Given the description of an element on the screen output the (x, y) to click on. 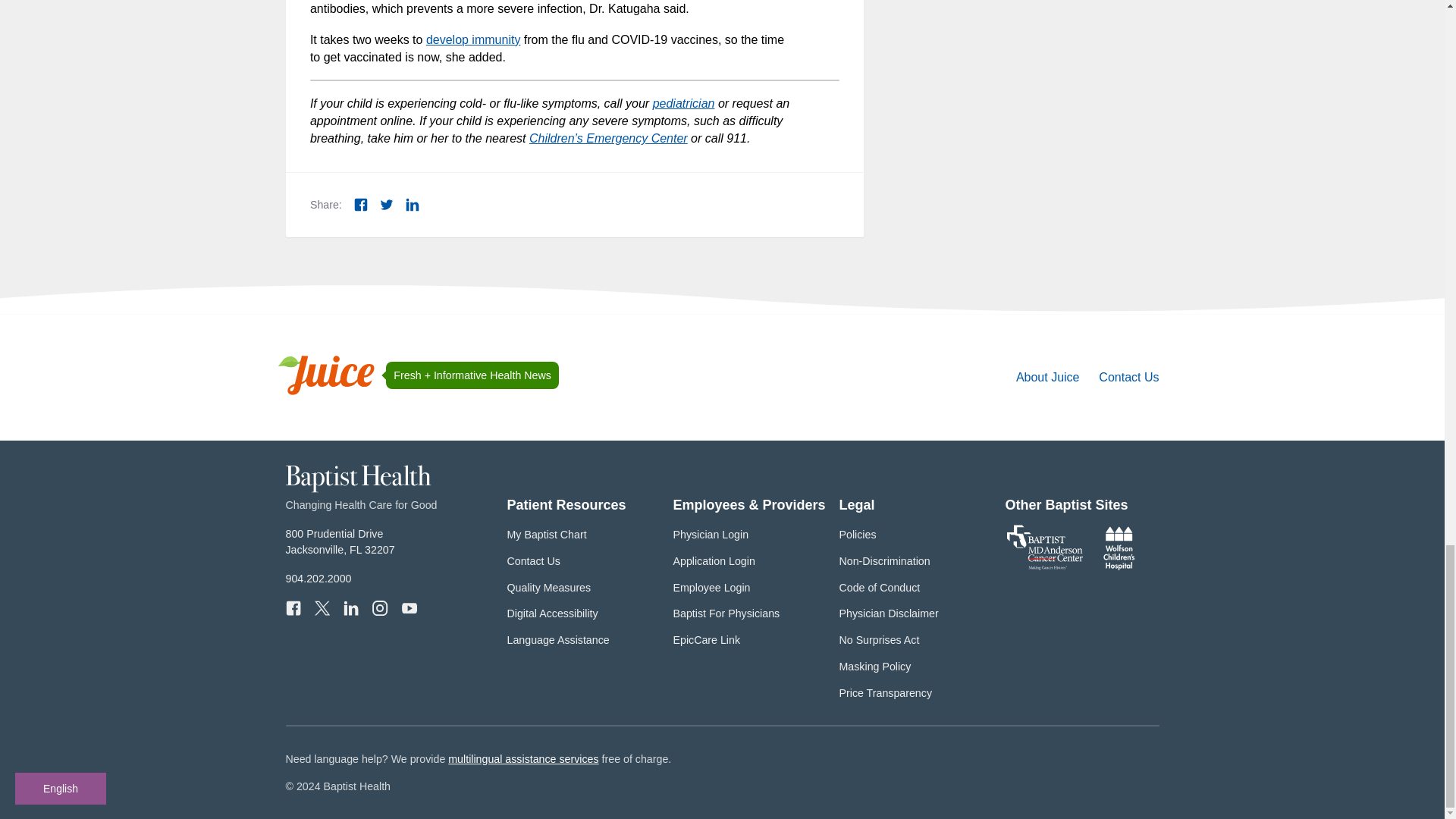
Twitter (322, 608)
LinkedIn (412, 204)
develop immunity (473, 39)
Baptist Health (357, 489)
pediatrician (683, 103)
Get directions to Baptist Health (339, 541)
Facebook (292, 608)
Facebook (360, 204)
Instagram (379, 608)
YouTube (408, 608)
Twitter (386, 204)
LinkedIn (350, 608)
